Given the description of an element on the screen output the (x, y) to click on. 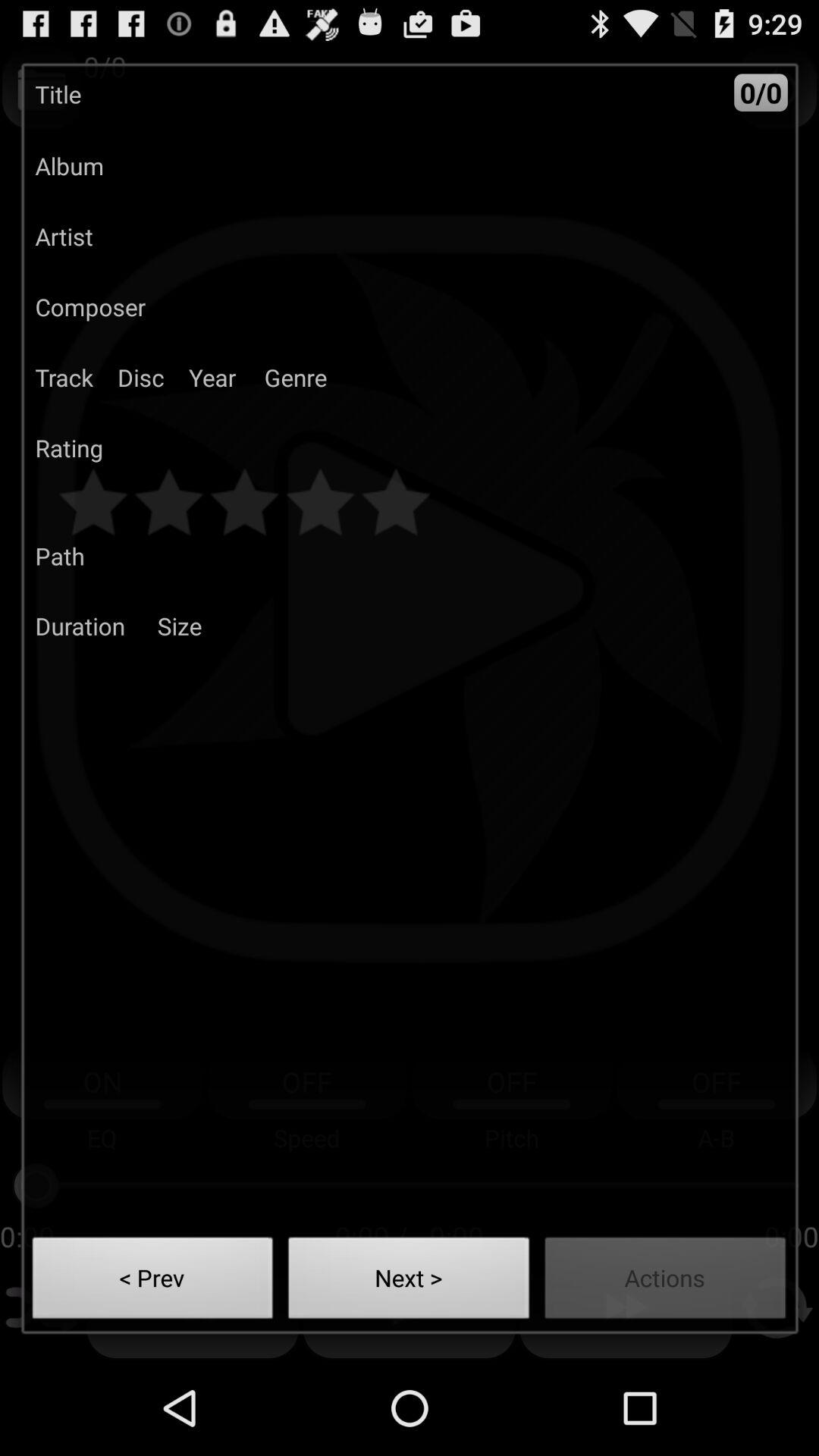
select the actions button (665, 1282)
